Given the description of an element on the screen output the (x, y) to click on. 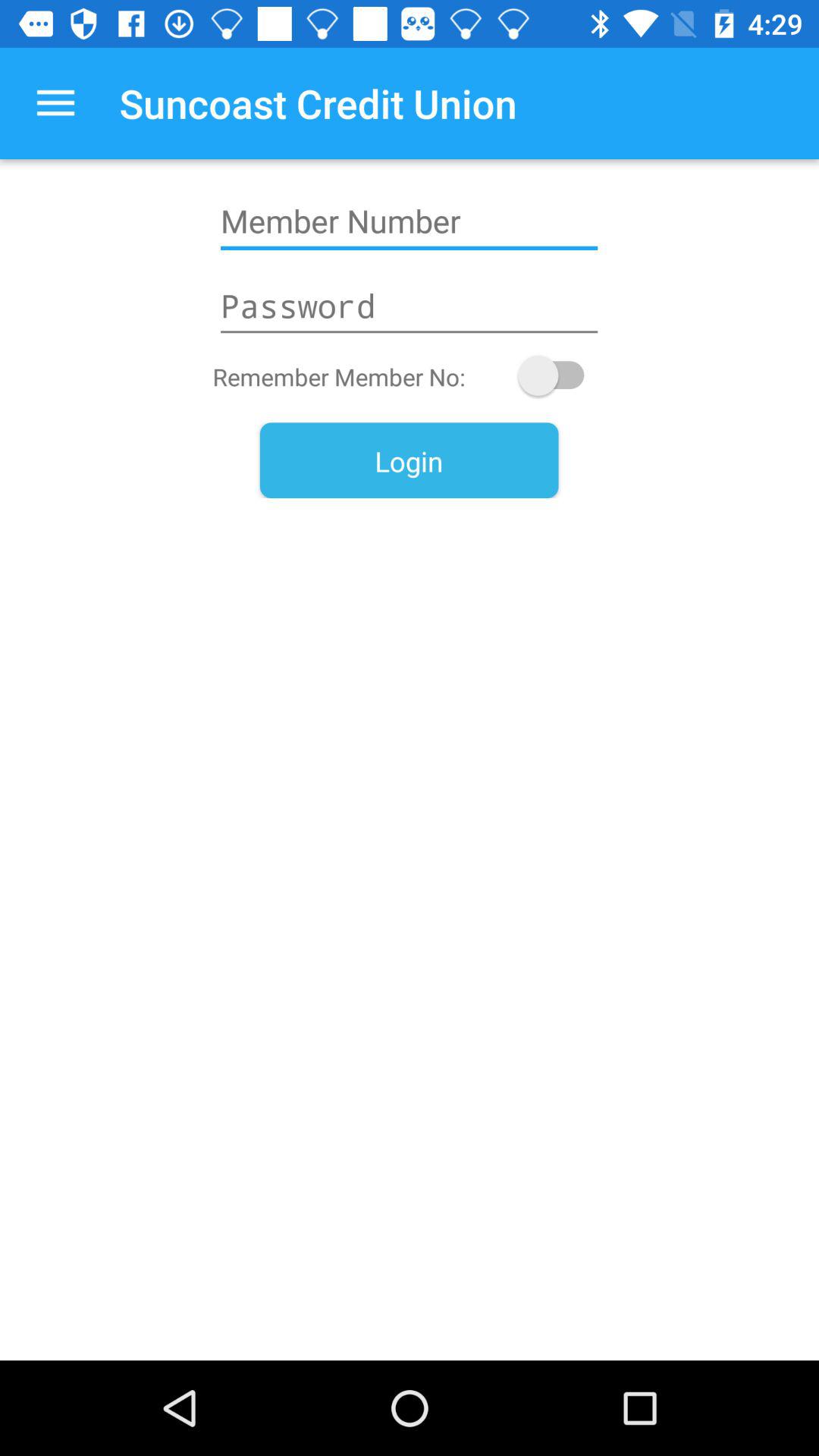
select icon below suncoast credit union app (408, 221)
